Given the description of an element on the screen output the (x, y) to click on. 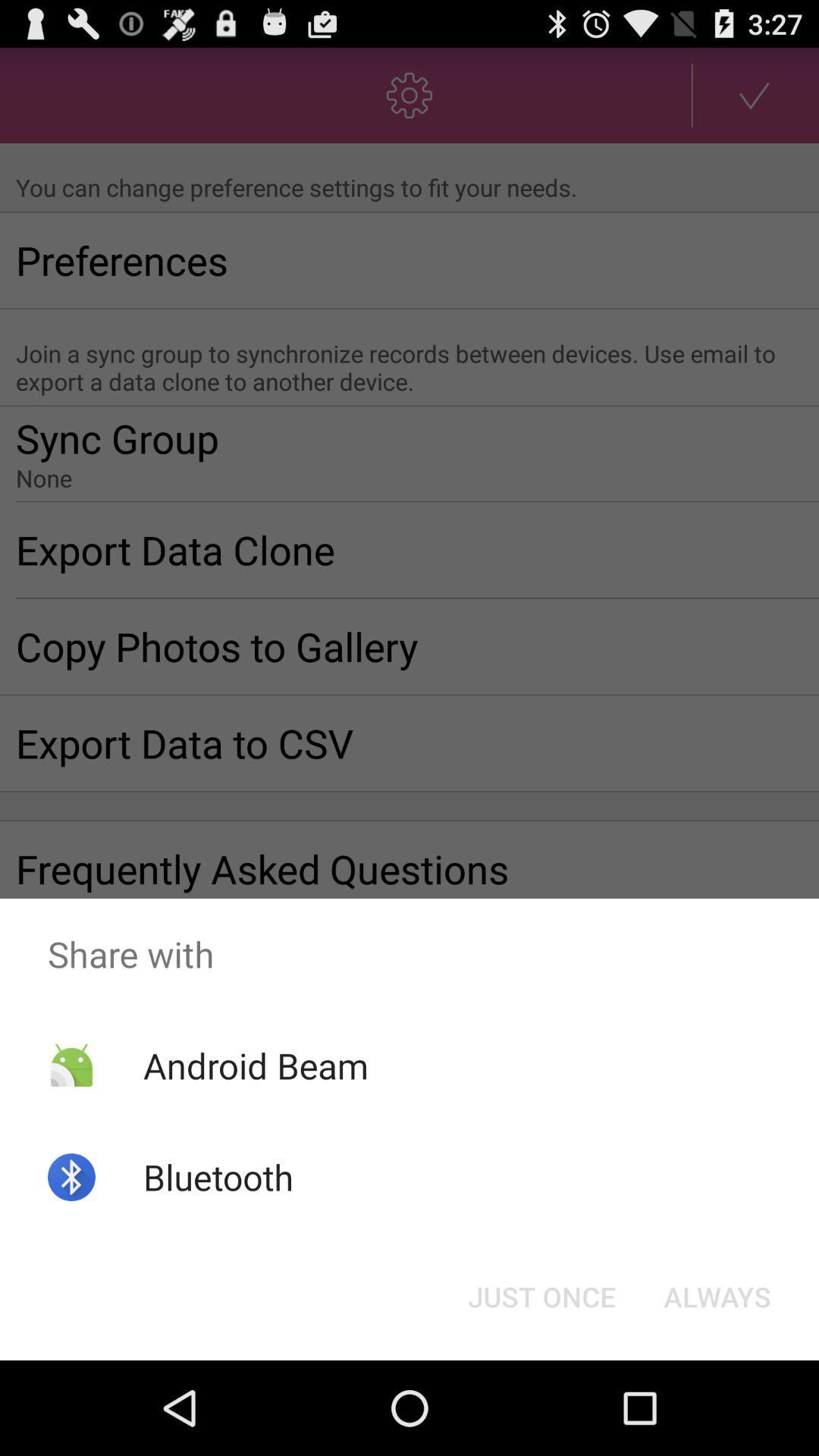
select app below the share with icon (541, 1296)
